Given the description of an element on the screen output the (x, y) to click on. 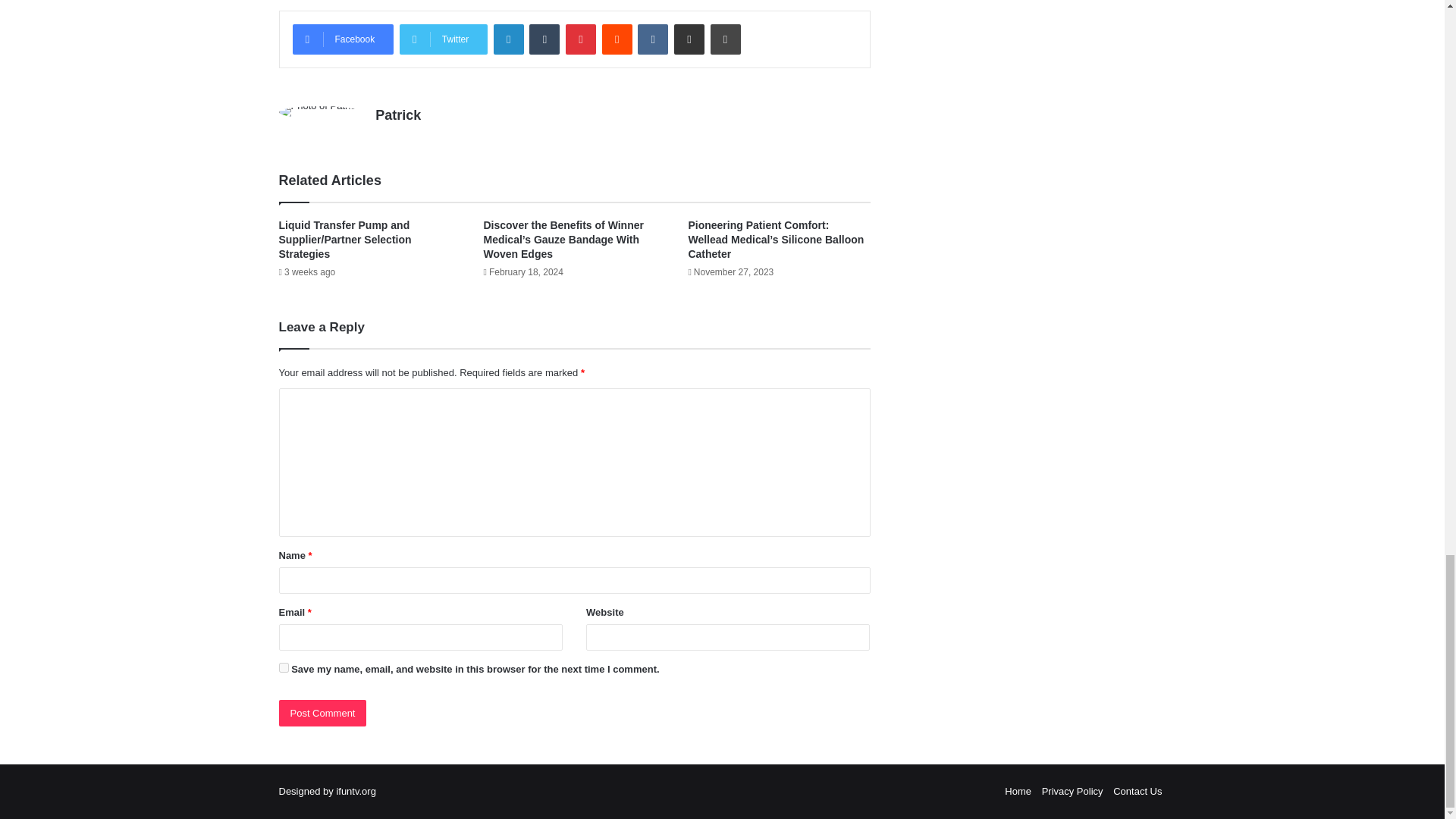
yes (283, 667)
LinkedIn (508, 39)
Tumblr (544, 39)
Reddit (616, 39)
Pinterest (580, 39)
Print (725, 39)
Share via Email (689, 39)
Twitter (442, 39)
Print (725, 39)
Tumblr (544, 39)
Facebook (343, 39)
VKontakte (652, 39)
Pinterest (580, 39)
Twitter (442, 39)
VKontakte (652, 39)
